Given the description of an element on the screen output the (x, y) to click on. 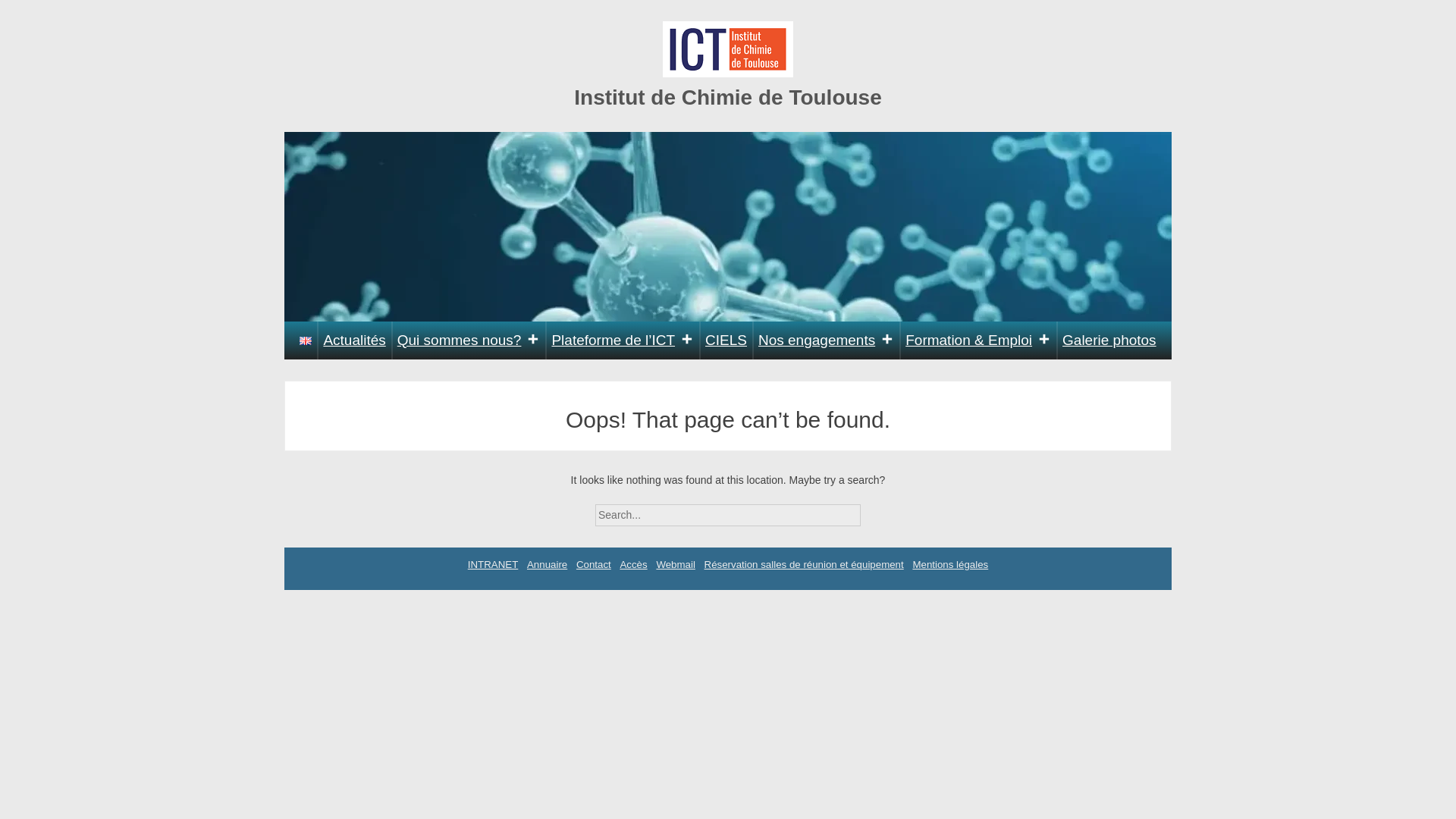
Nos engagements (825, 340)
Search (873, 509)
Search (873, 509)
CIELS (726, 340)
Institut de Chimie de Toulouse (727, 97)
Qui sommes nous? (468, 340)
